Given the description of an element on the screen output the (x, y) to click on. 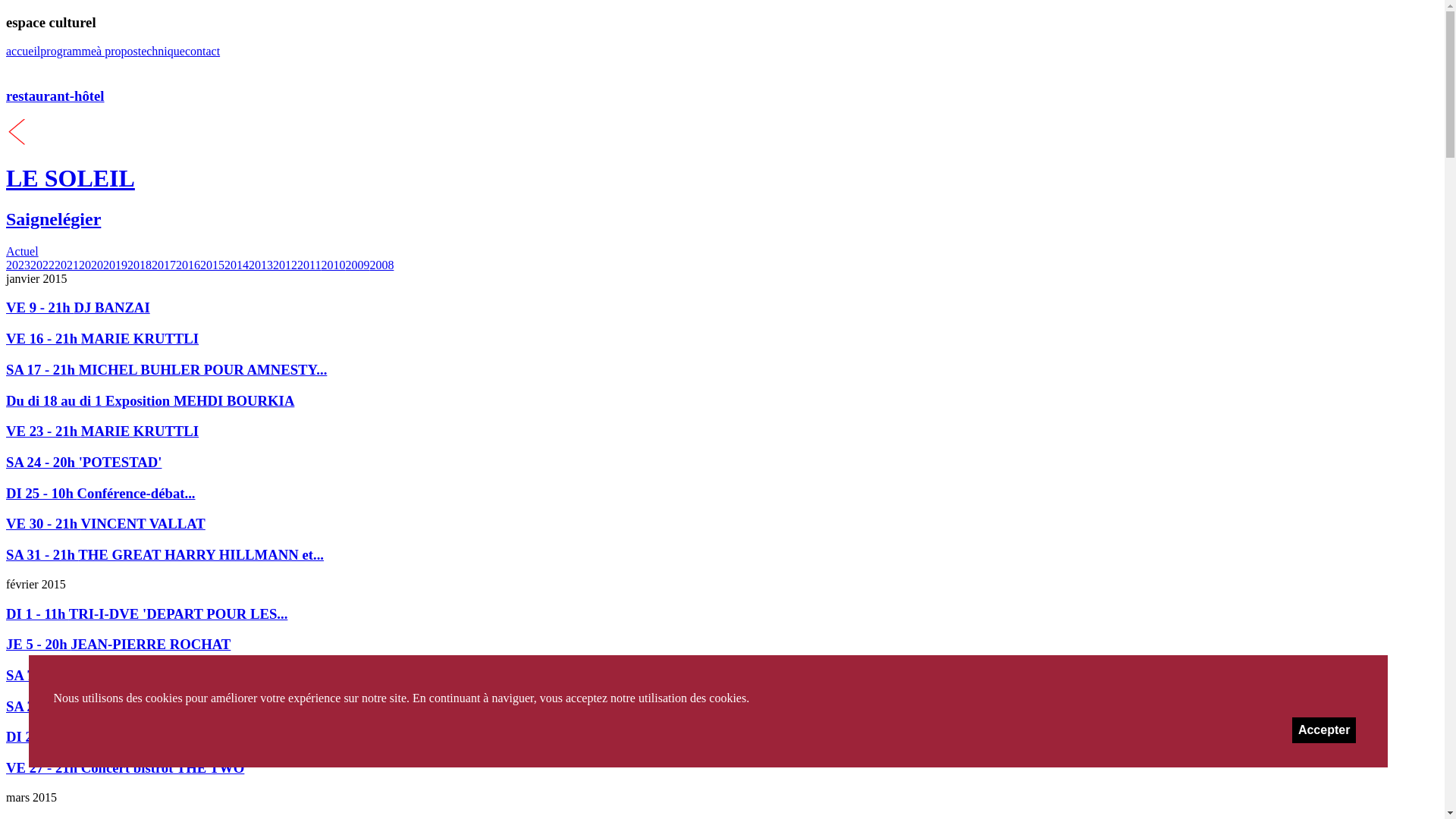
VE 23 - 21h MARIE KRUTTLI Element type: text (722, 431)
2008 Element type: text (381, 264)
2022 Element type: text (42, 264)
DI 1 - 11h TRI-I-DVE 'DEPART POUR LES... Element type: text (722, 613)
2015 Element type: text (212, 264)
2012 Element type: text (285, 264)
2016 Element type: text (187, 264)
SA 21 - 21h GAUTHIER TOUX TRIO Element type: text (722, 706)
2014 Element type: text (236, 264)
2020 Element type: text (90, 264)
2011 Element type: text (308, 264)
Accepter Element type: text (1323, 730)
Actuel Element type: text (22, 250)
2018 Element type: text (139, 264)
SA 24 - 20h 'POTESTAD' Element type: text (722, 462)
2017 Element type: text (163, 264)
DI 22 - 11h POLINA USHAKOVA Element type: text (722, 736)
2019 Element type: text (115, 264)
technique Element type: text (161, 50)
SA 17 - 21h MICHEL BUHLER POUR AMNESTY... Element type: text (722, 369)
SA 7 - 20h 'MASSACRE A LA DECONNEUSE' Element type: text (722, 675)
VE 16 - 21h MARIE KRUTTLI Element type: text (722, 338)
VE 30 - 21h VINCENT VALLAT Element type: text (722, 523)
accueil Element type: text (23, 50)
2021 Element type: text (66, 264)
2010 Element type: text (332, 264)
Du di 18 au di 1 Exposition MEHDI BOURKIA Element type: text (722, 400)
SA 31 - 21h THE GREAT HARRY HILLMANN et... Element type: text (722, 554)
VE 9 - 21h DJ BANZAI Element type: text (722, 307)
2023 Element type: text (18, 264)
2013 Element type: text (260, 264)
VE 27 - 21h Concert bistrot THE TWO Element type: text (722, 767)
contact Element type: text (202, 50)
2009 Element type: text (357, 264)
JE 5 - 20h JEAN-PIERRE ROCHAT Element type: text (722, 644)
programme Element type: text (68, 50)
